Given the description of an element on the screen output the (x, y) to click on. 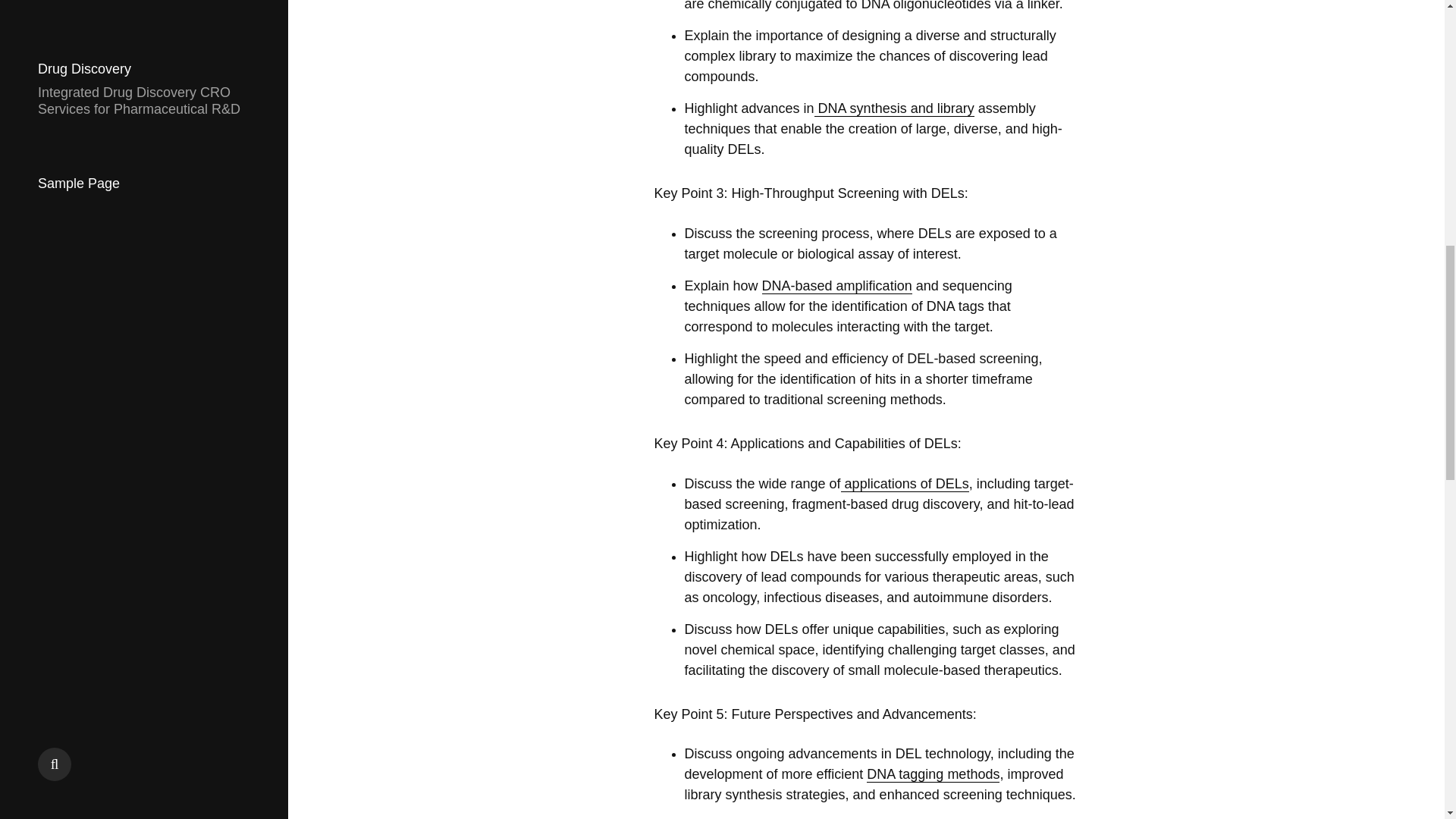
DNA-based amplification (836, 286)
applications of DELs (905, 483)
DNA synthesis and library (893, 108)
DNA tagging methods (932, 774)
